Given the description of an element on the screen output the (x, y) to click on. 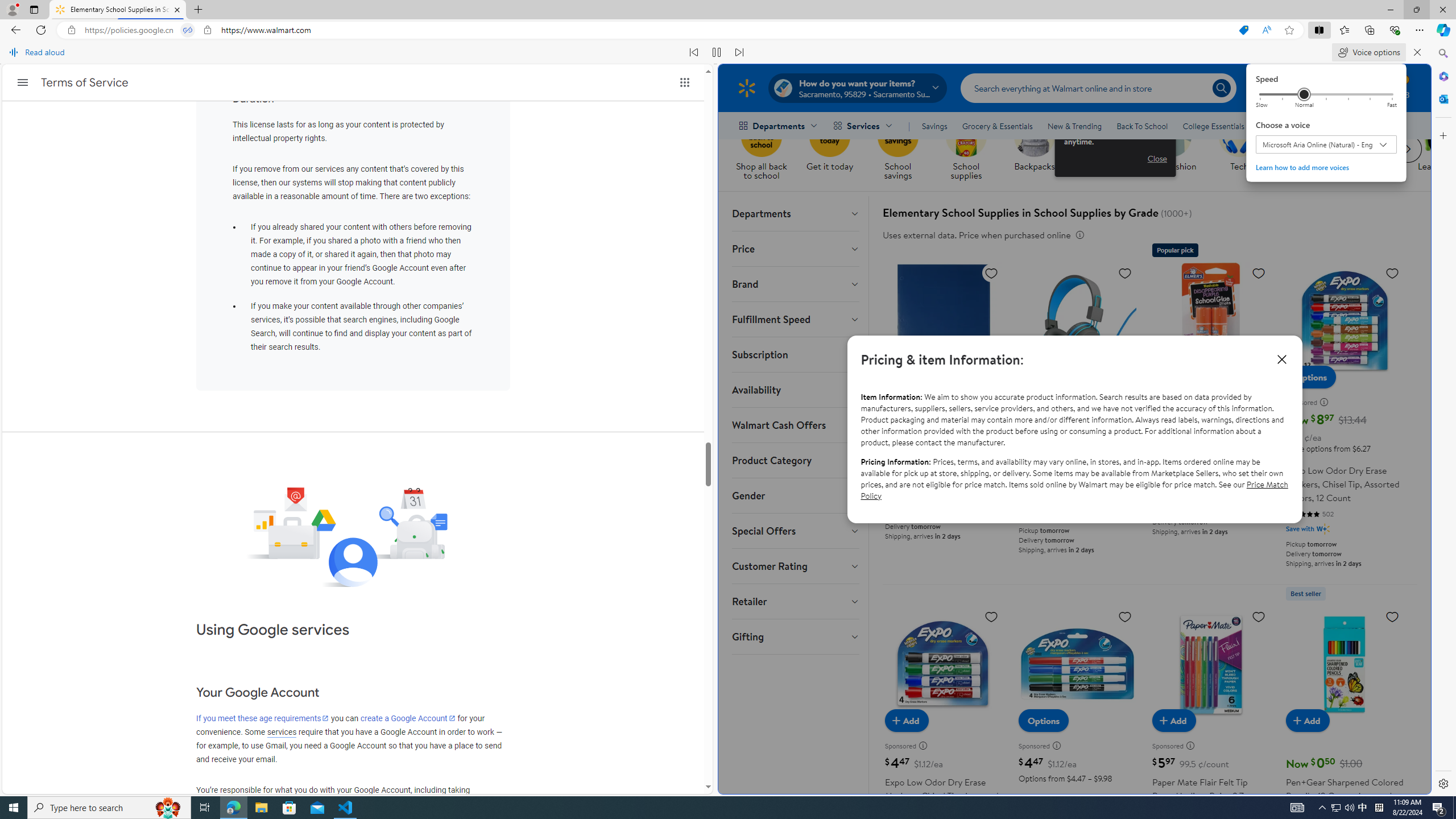
Close Search pane (1442, 53)
Pause read aloud (Ctrl+Shift+U) (716, 52)
File Explorer (261, 807)
AutomationID: 4105 (1297, 807)
Start (13, 807)
Close read aloud (1266, 29)
